Given the description of an element on the screen output the (x, y) to click on. 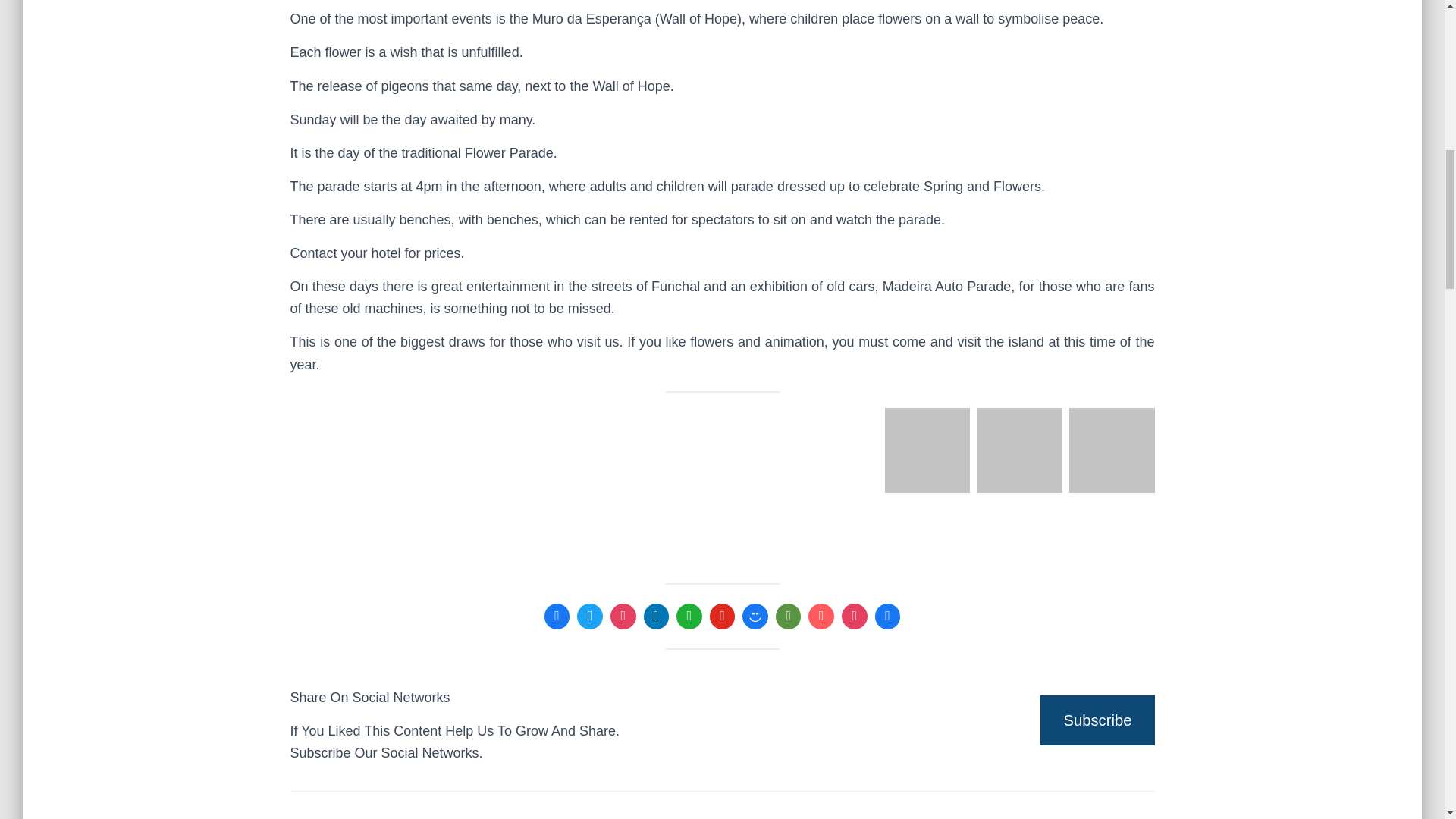
Madeira Flower Festival (424, 483)
Subscribe (1097, 720)
